Given the description of an element on the screen output the (x, y) to click on. 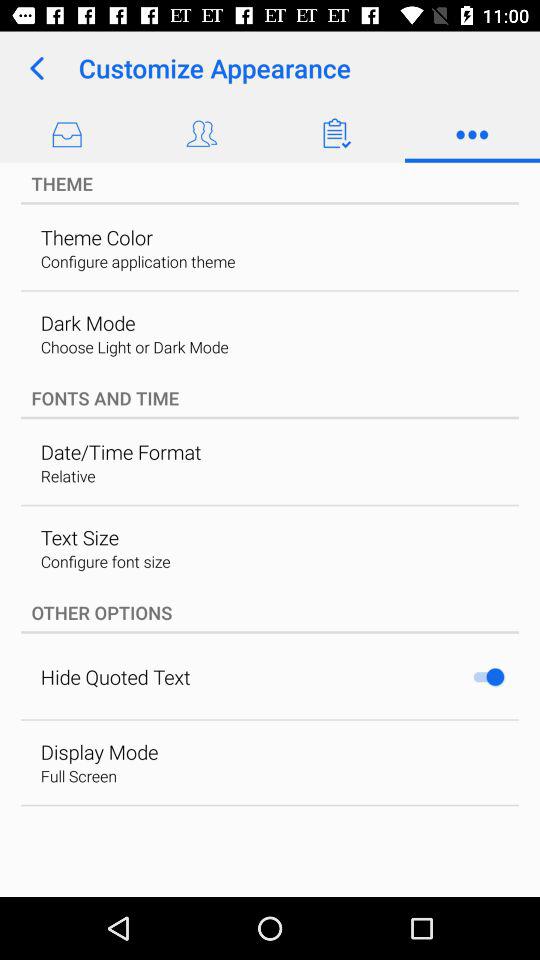
launch app next to hide quoted text item (488, 676)
